Given the description of an element on the screen output the (x, y) to click on. 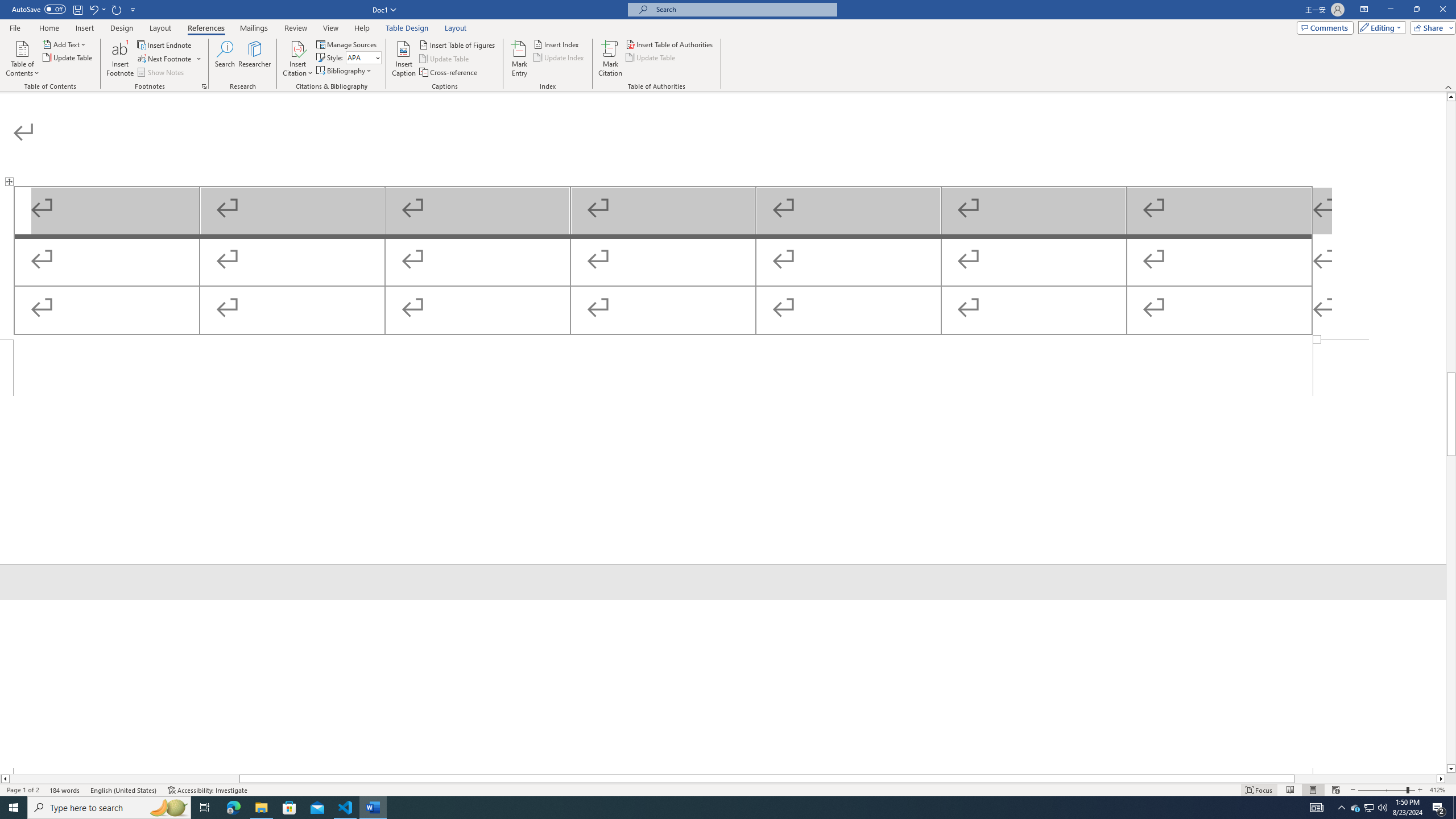
Line down (1450, 768)
Page up (1450, 236)
Insert Index... (556, 44)
Class: NetUIScrollBar (1450, 432)
Page right (1365, 778)
Class: MsoCommandBar (728, 789)
Insert Citation (297, 58)
Mark Citation... (610, 58)
